Given the description of an element on the screen output the (x, y) to click on. 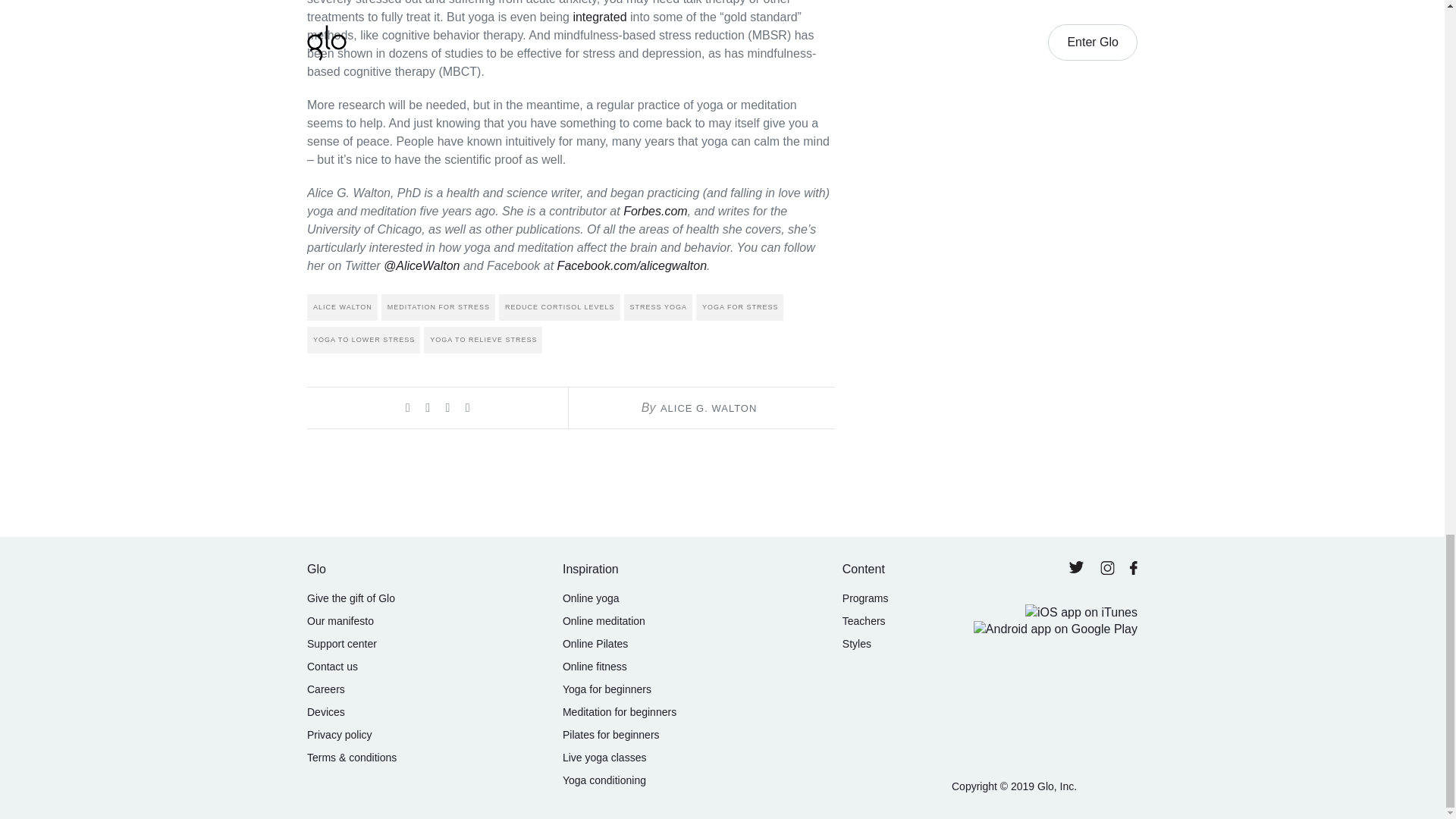
Visit us on Twitter (1077, 568)
Visit us on Instagram (1109, 571)
Posts by Alice G. Walton (709, 408)
